Given the description of an element on the screen output the (x, y) to click on. 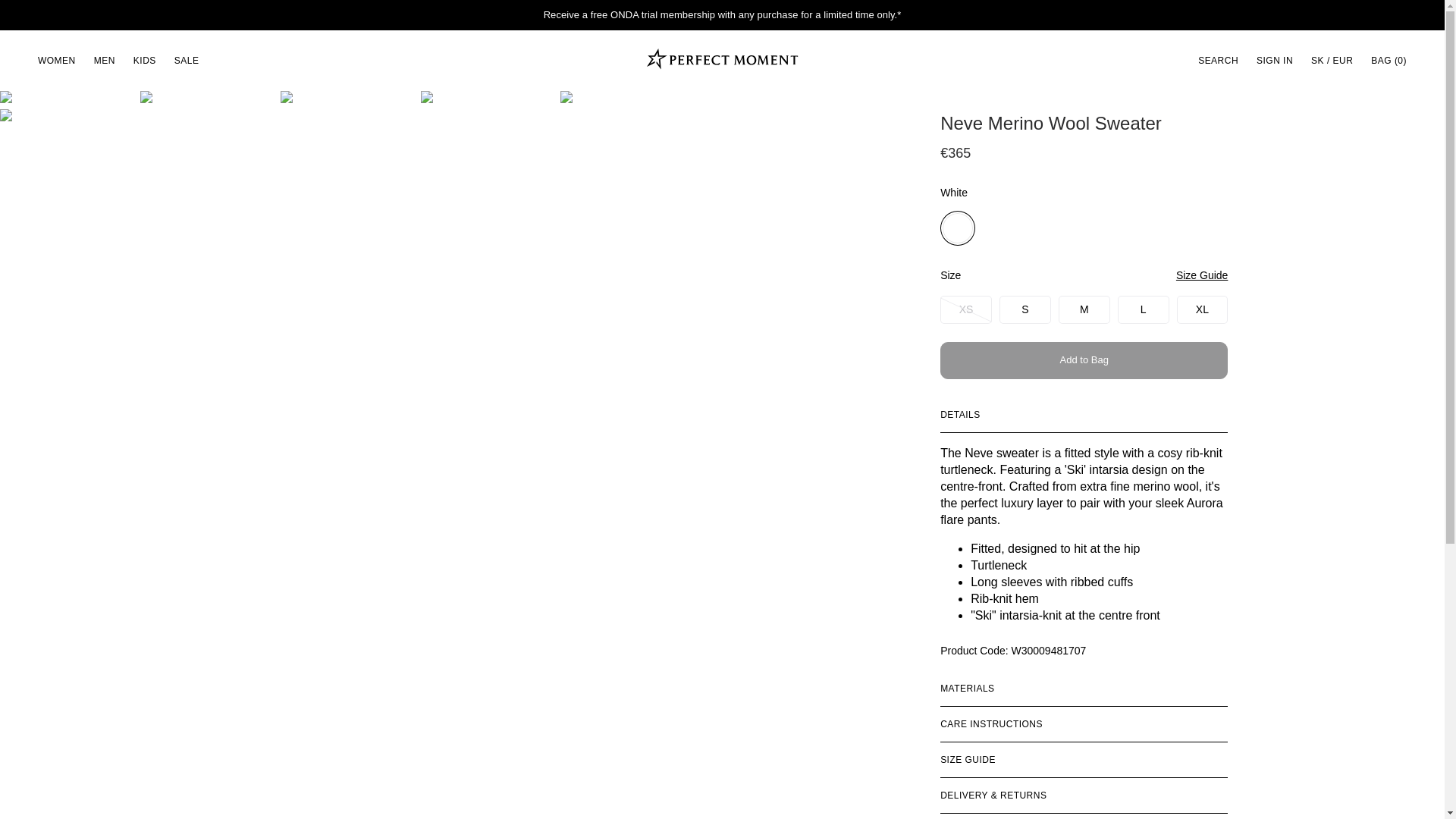
WOMEN (56, 60)
SALE (186, 60)
KIDS (144, 60)
Perfect Moment (721, 60)
White (957, 227)
MEN (103, 60)
